Given the description of an element on the screen output the (x, y) to click on. 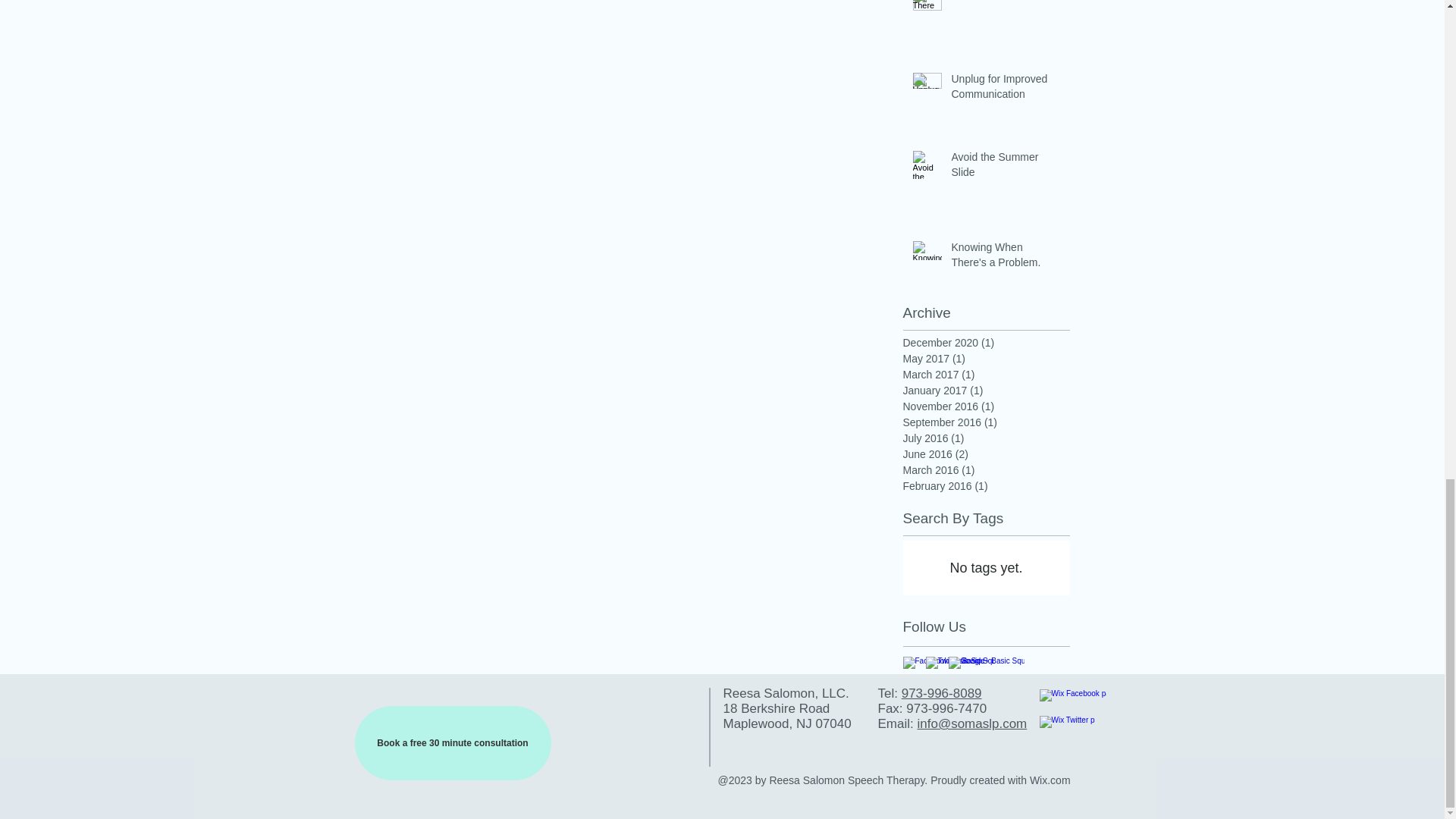
Unplug for Improved Communication (1004, 89)
Avoid the Summer Slide (1004, 167)
There is Still Time! (1004, 4)
Knowing When There's a Problem. (1004, 258)
Book a free 30 minute consultation (453, 742)
973-996-8089 (941, 693)
Wix.com (1049, 779)
